Given the description of an element on the screen output the (x, y) to click on. 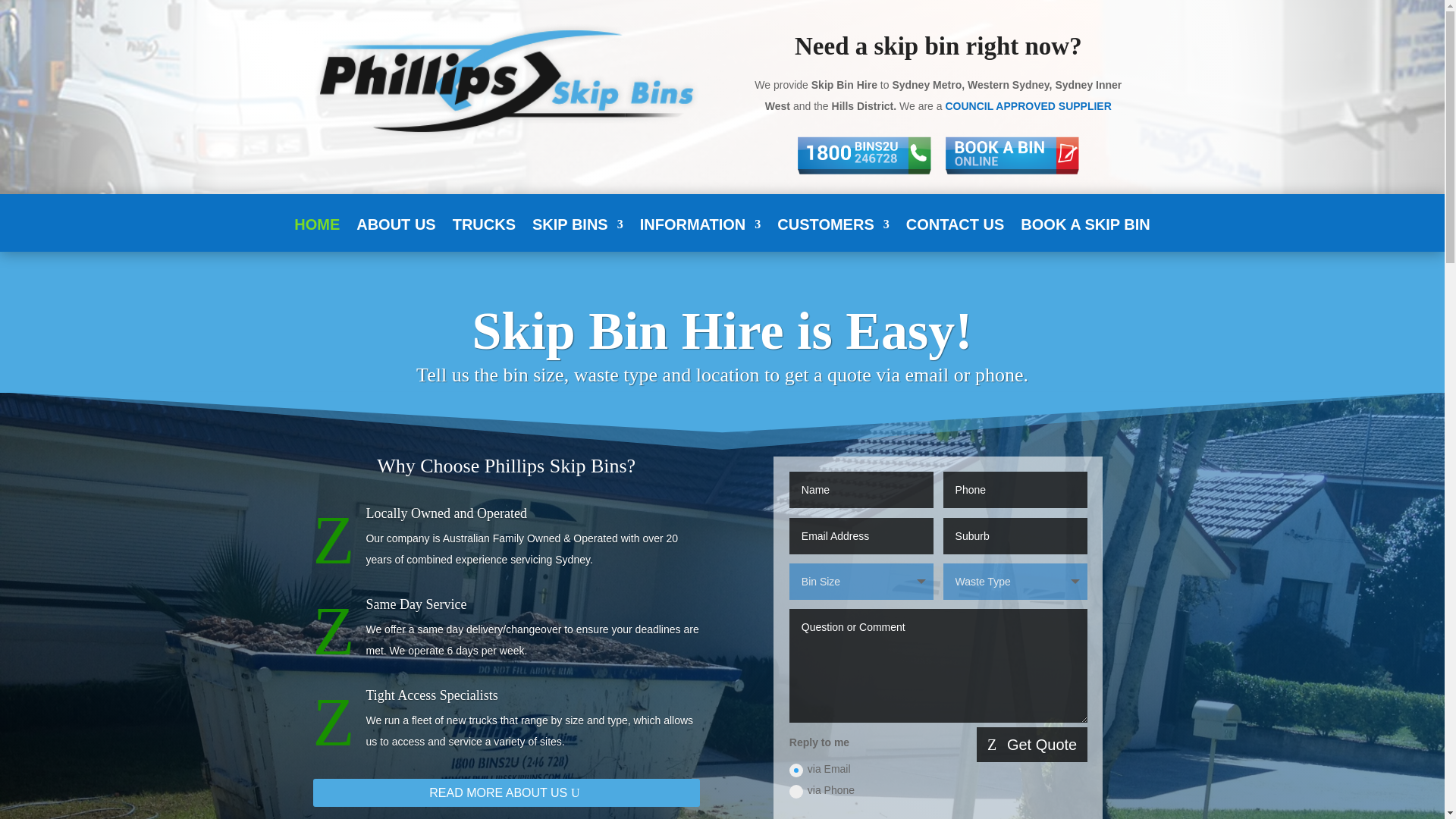
HOME (316, 235)
CUSTOMERS (832, 235)
TRUCKS (483, 235)
Sydney Skip Bin Permits (1027, 105)
ABOUT US (395, 235)
INFORMATION (700, 235)
COUNCIL APPROVED SUPPLIER (1027, 105)
SKIP BINS (577, 235)
